Given the description of an element on the screen output the (x, y) to click on. 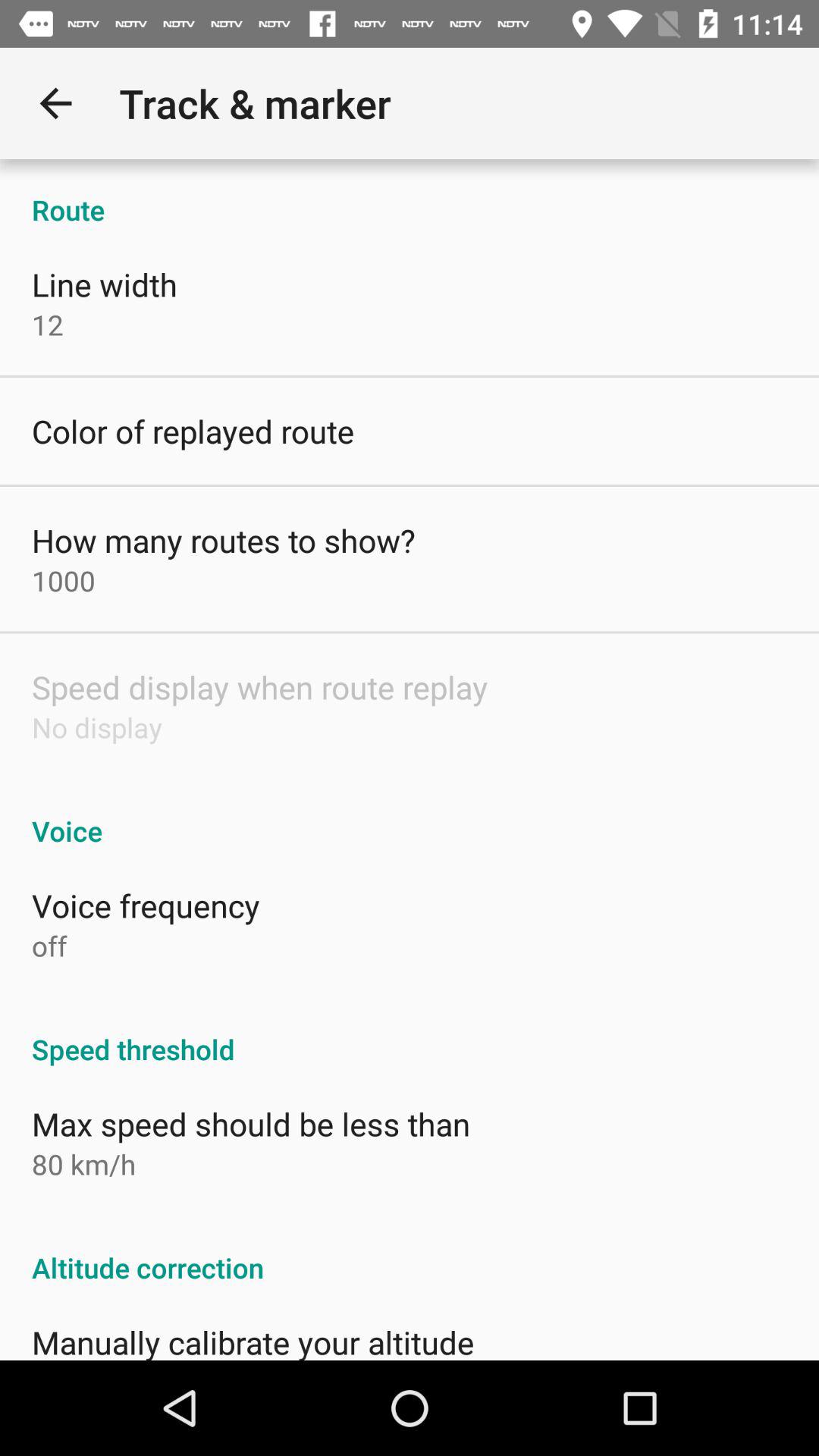
open icon next to the track & marker app (55, 103)
